Given the description of an element on the screen output the (x, y) to click on. 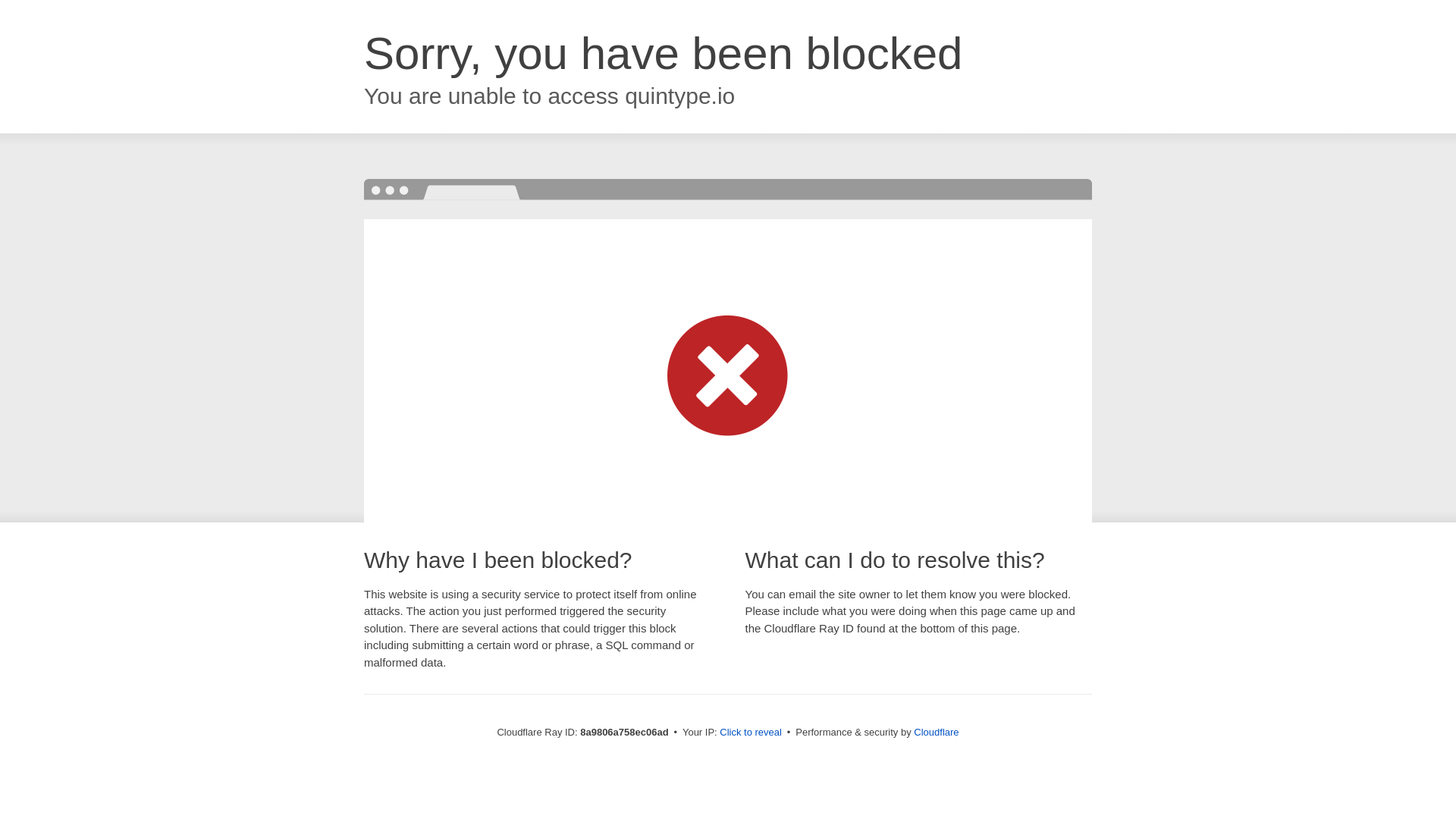
Cloudflare (936, 731)
Click to reveal (750, 732)
